Given the description of an element on the screen output the (x, y) to click on. 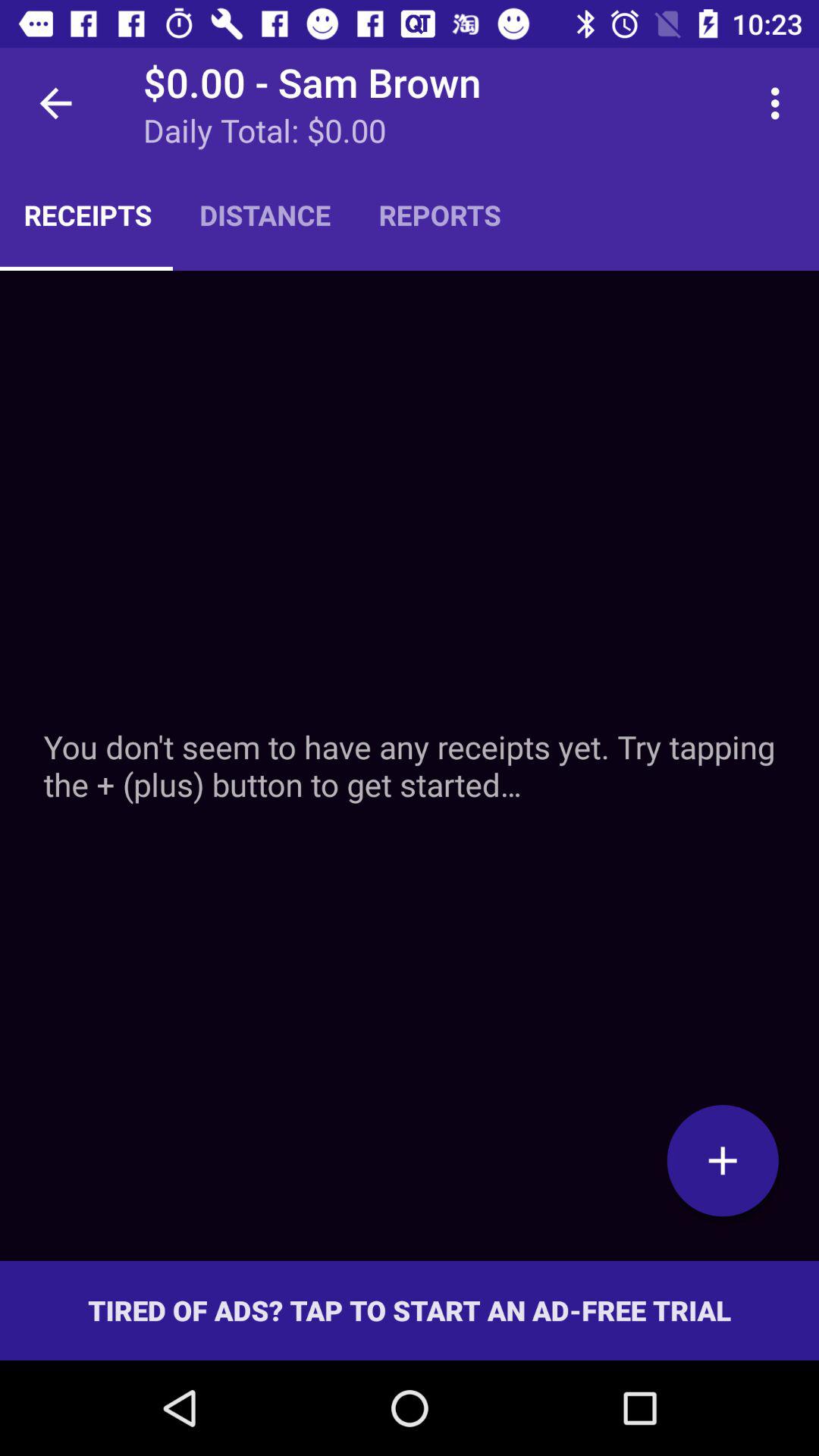
add this on (722, 1160)
